Given the description of an element on the screen output the (x, y) to click on. 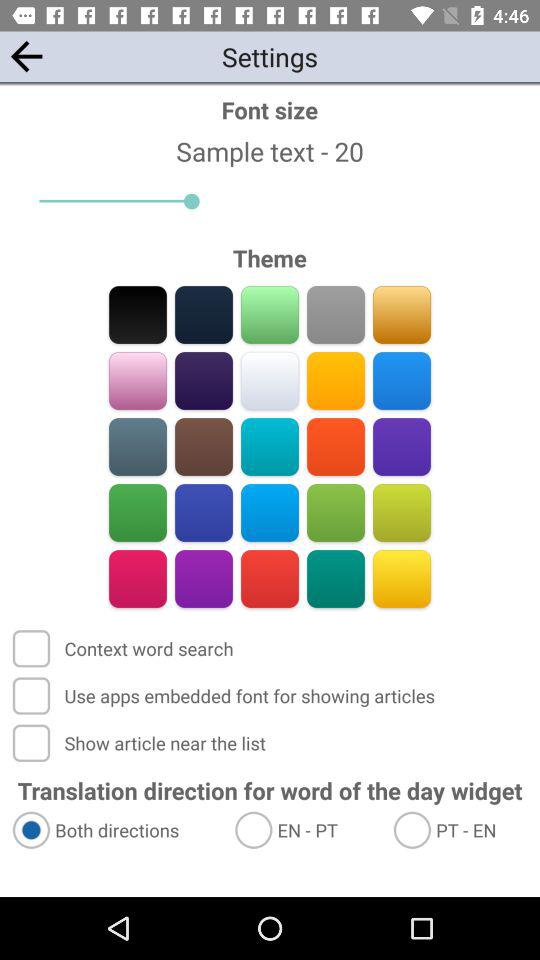
color select (335, 314)
